Given the description of an element on the screen output the (x, y) to click on. 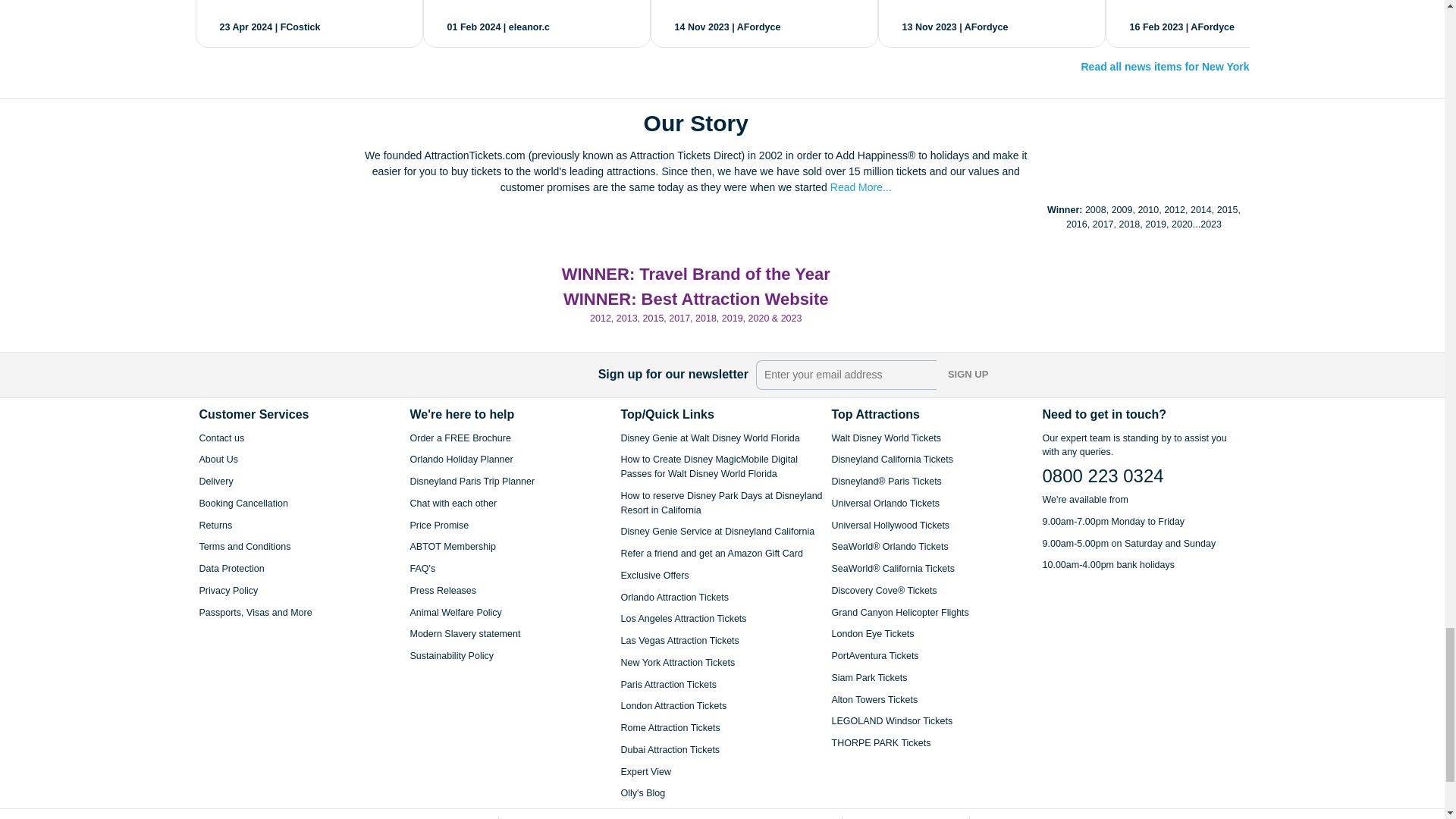
SIGN UP (967, 374)
